Given the description of an element on the screen output the (x, y) to click on. 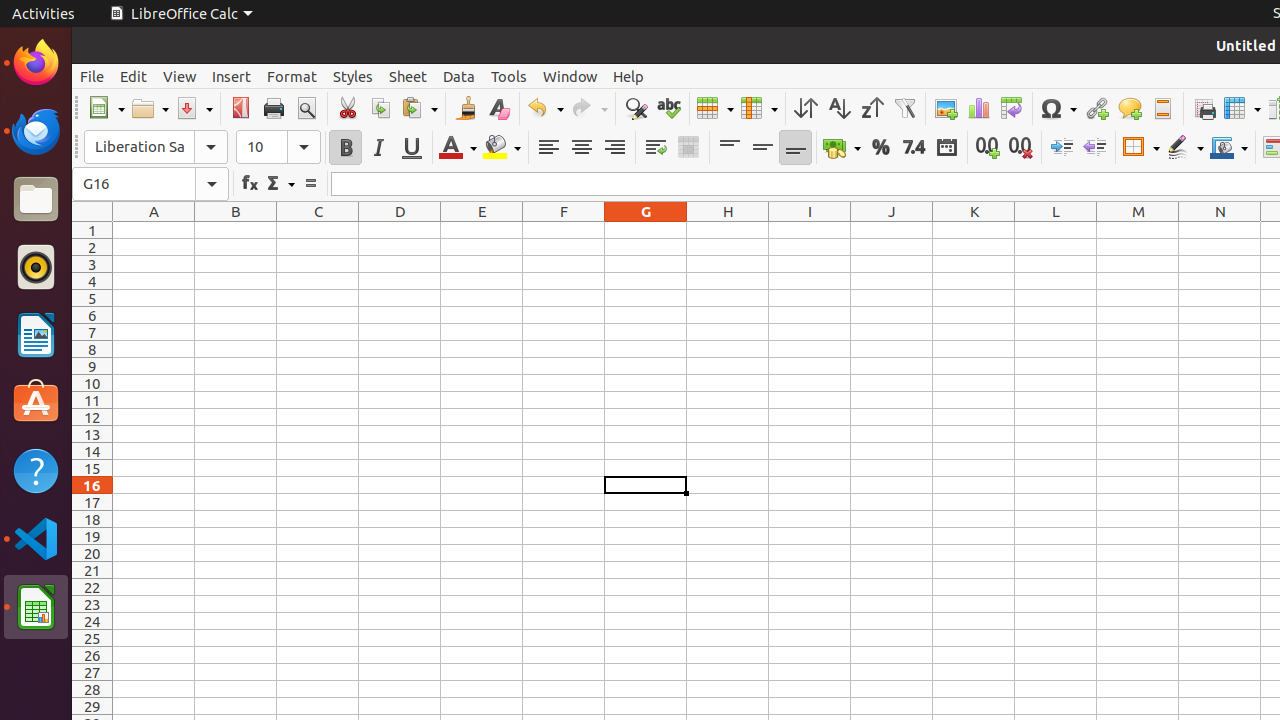
Font Color Element type: push-button (458, 147)
Sort Element type: push-button (805, 108)
LibreOffice Writer Element type: push-button (36, 334)
Pivot Table Element type: push-button (1011, 108)
Files Element type: push-button (36, 199)
